Given the description of an element on the screen output the (x, y) to click on. 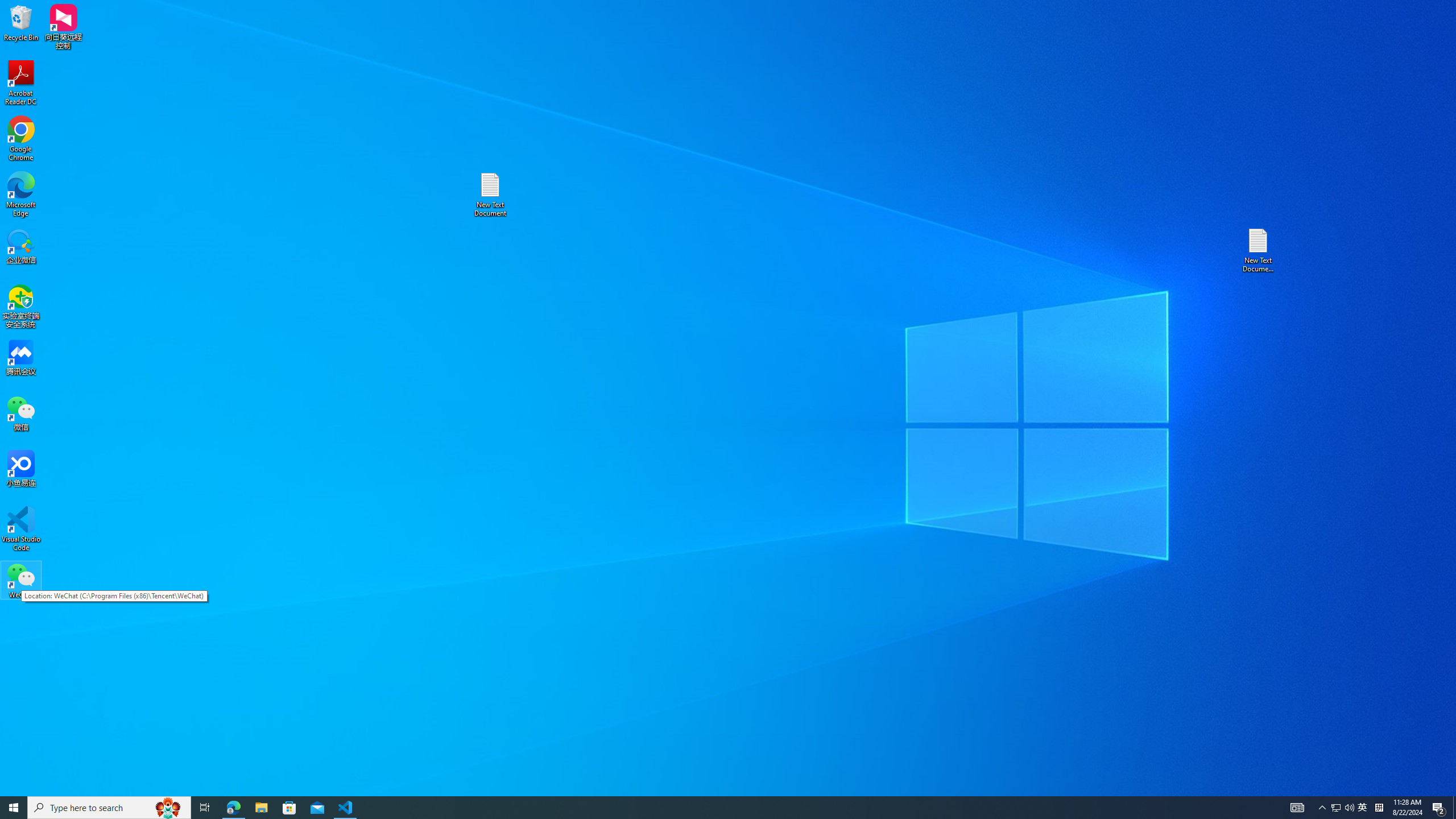
New Text Document (489, 194)
Acrobat Reader DC (21, 82)
